Given the description of an element on the screen output the (x, y) to click on. 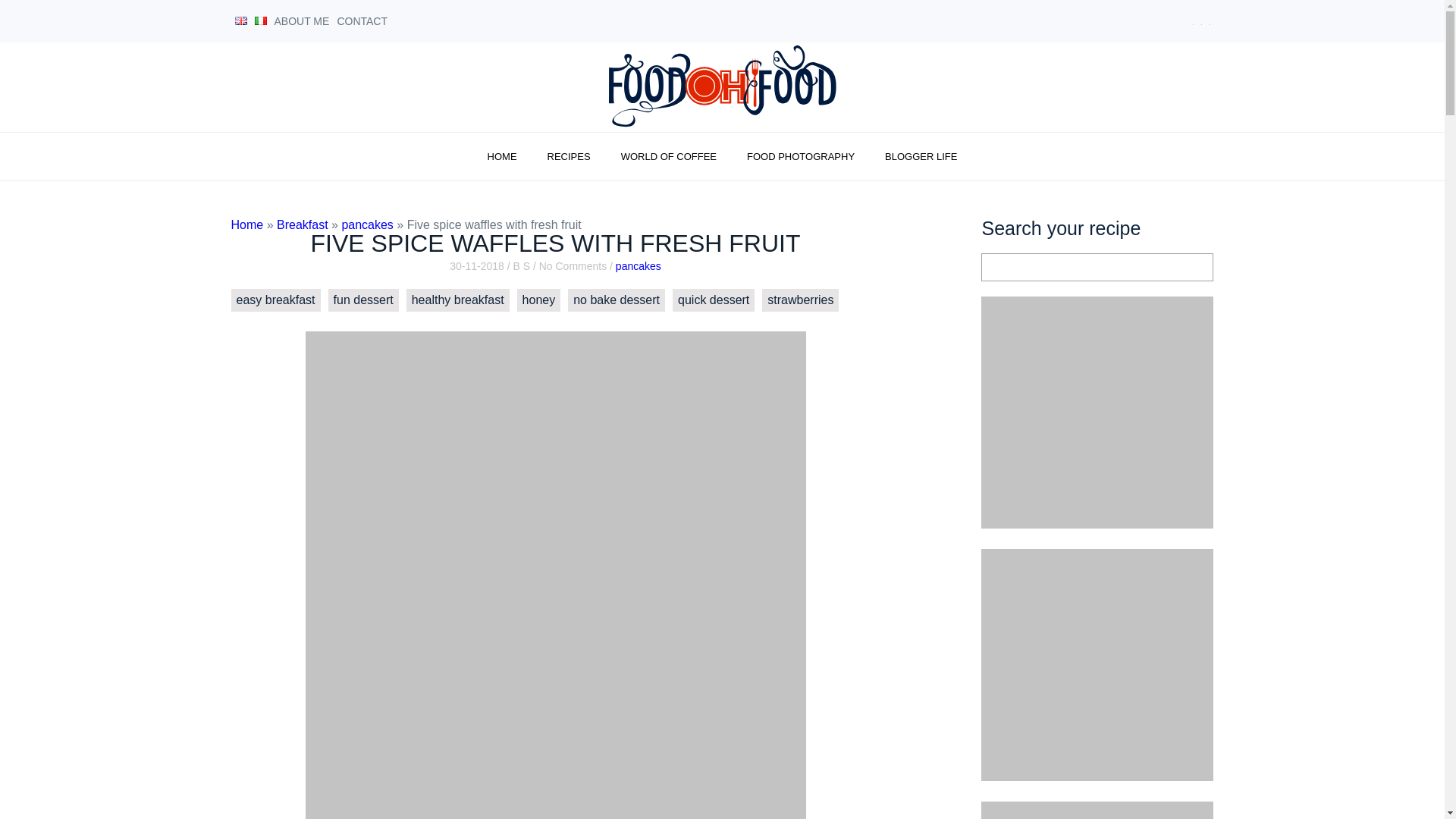
HOME (501, 156)
RECIPES (568, 156)
ABOUT ME (302, 21)
CONTACT (361, 21)
